Given the description of an element on the screen output the (x, y) to click on. 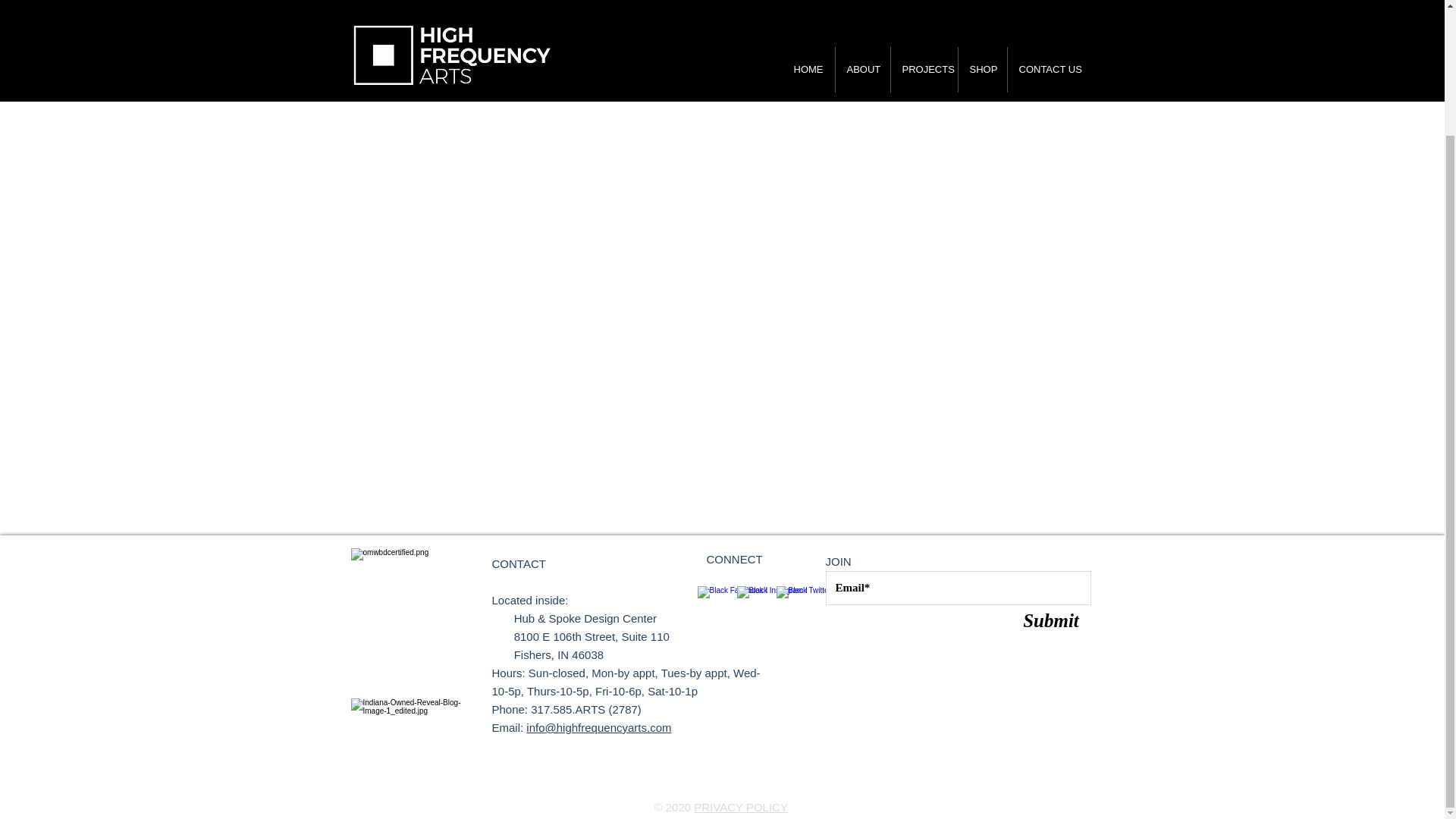
Submit (1050, 620)
PRIVACY POLICY (740, 807)
